Given the description of an element on the screen output the (x, y) to click on. 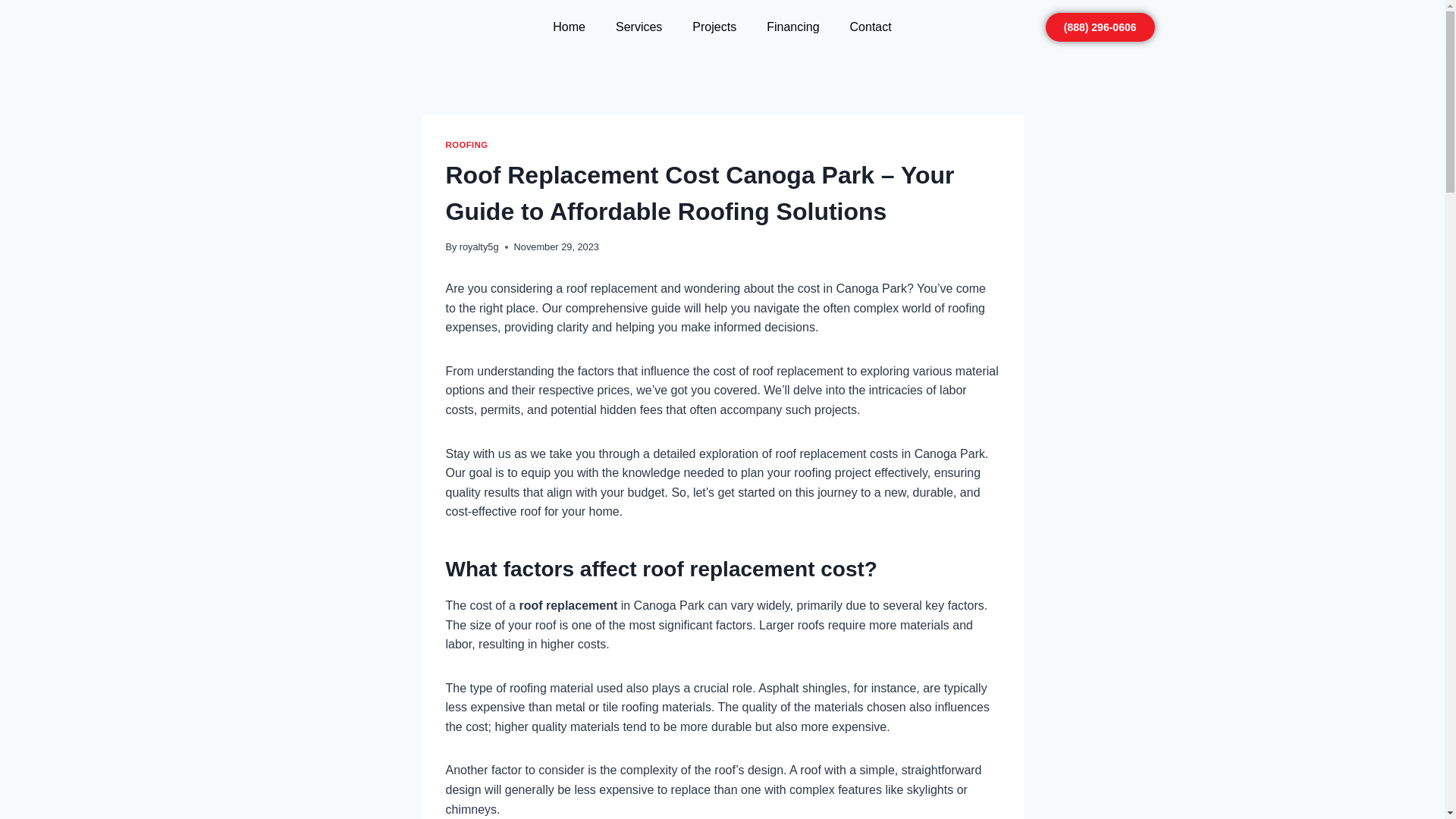
Projects (714, 27)
ROOFING (466, 144)
Services (638, 27)
royalty5g (479, 246)
Financing (792, 27)
Home (568, 27)
Contact (870, 27)
